Given the description of an element on the screen output the (x, y) to click on. 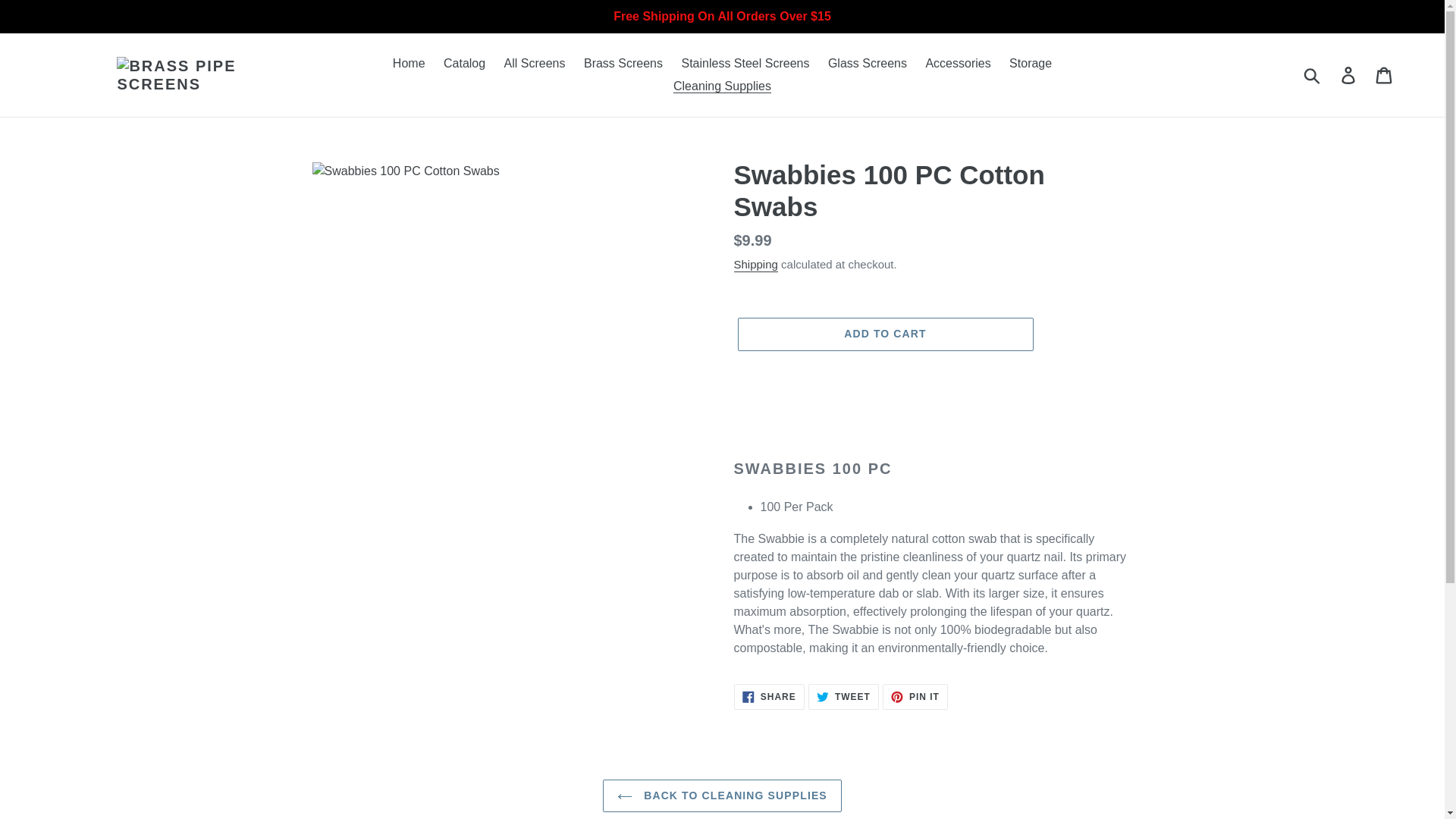
Cart (769, 696)
Brass Screens (1385, 74)
Stainless Steel Screens (622, 63)
ADD TO CART (744, 63)
Accessories (884, 334)
Glass Screens (914, 696)
Home (957, 63)
All Screens (867, 63)
